Given the description of an element on the screen output the (x, y) to click on. 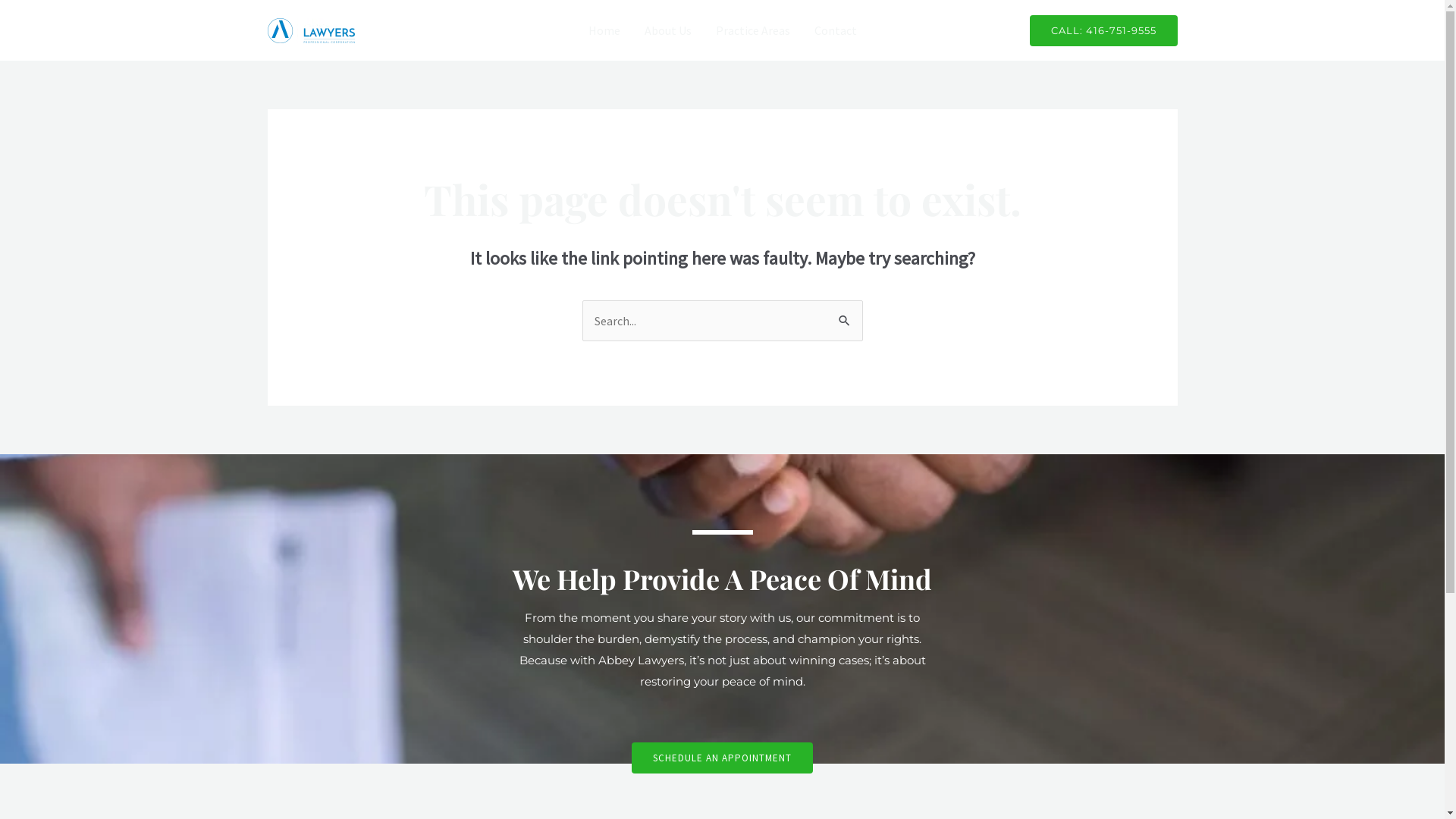
Practice Areas Element type: text (752, 30)
Contact Element type: text (835, 30)
Search Element type: text (845, 314)
Home Element type: text (604, 30)
CALL: 416-751-9555 Element type: text (1103, 30)
SCHEDULE AN APPOINTMENT Element type: text (721, 757)
About Us Element type: text (667, 30)
